Given the description of an element on the screen output the (x, y) to click on. 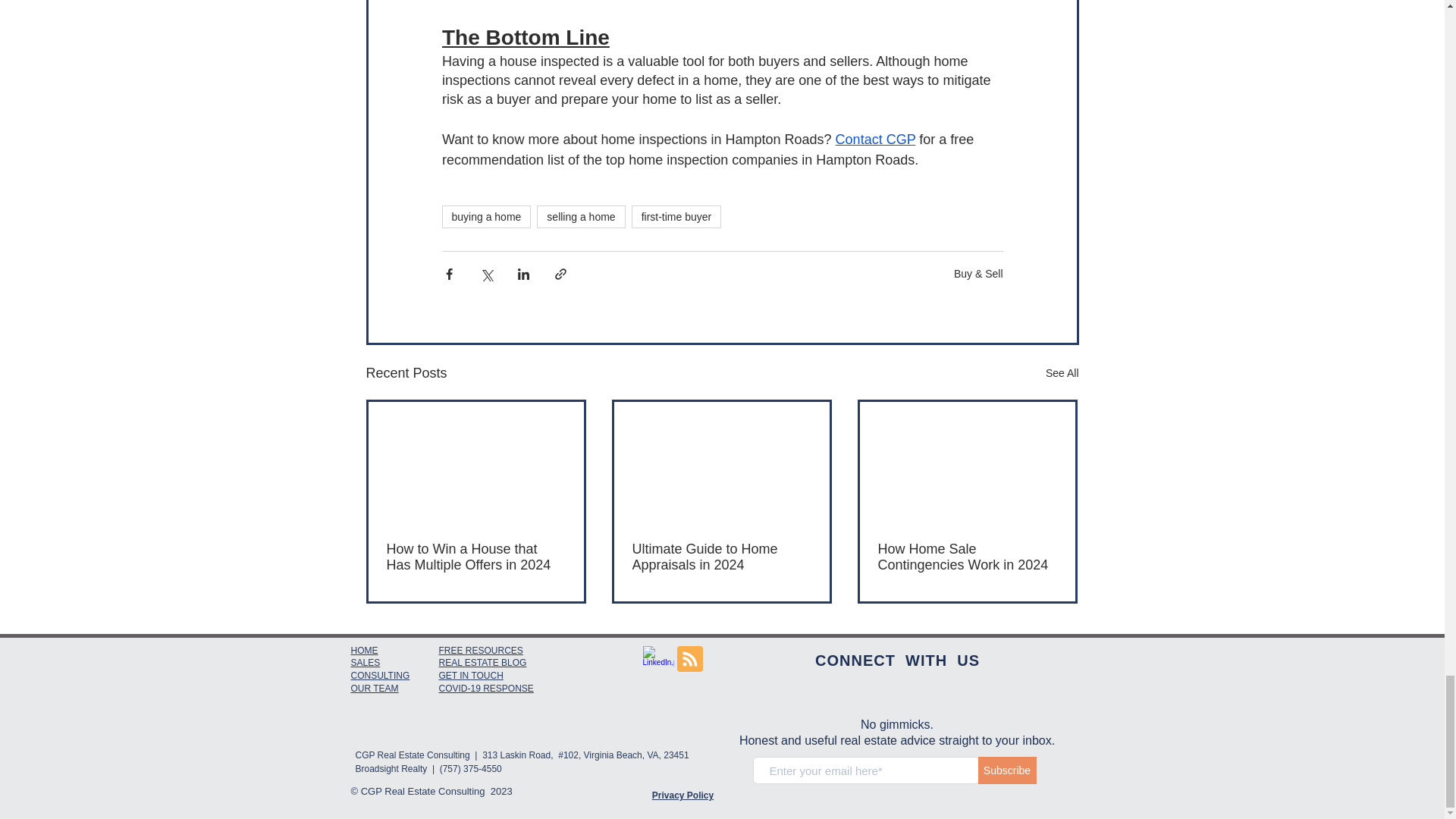
Contact CGP (874, 139)
selling a home (580, 216)
buying a home (486, 216)
first-time buyer (676, 216)
